Given the description of an element on the screen output the (x, y) to click on. 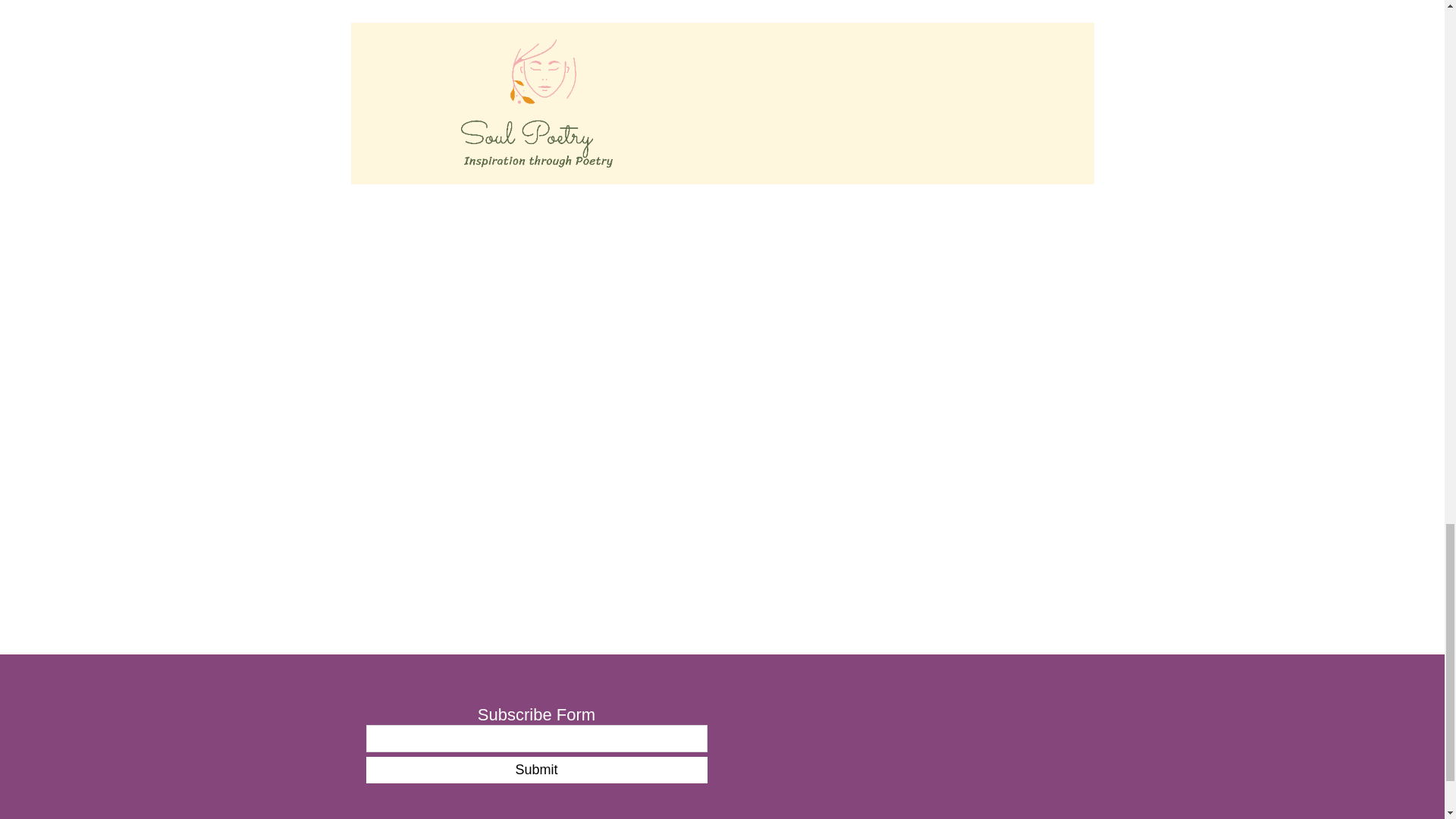
Submit (535, 769)
